Given the description of an element on the screen output the (x, y) to click on. 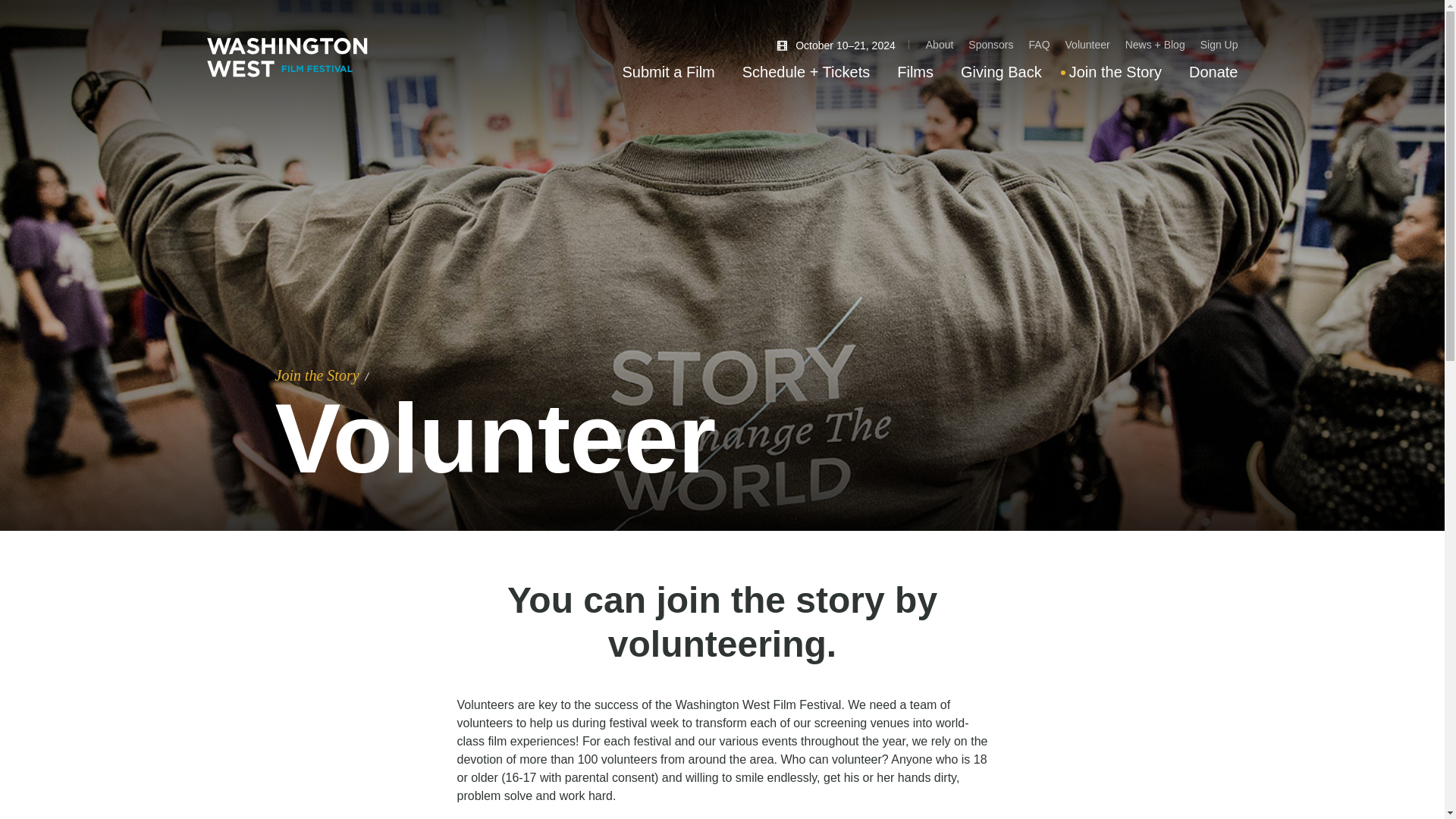
FAQ (1039, 44)
Films (914, 71)
Sign Up (1219, 44)
Volunteer (1087, 44)
Giving Back (1001, 71)
About (939, 44)
Join the Story (316, 375)
Donate (1214, 71)
Submit a Film (668, 71)
Sponsors (990, 44)
Join the Story (1114, 71)
